Given the description of an element on the screen output the (x, y) to click on. 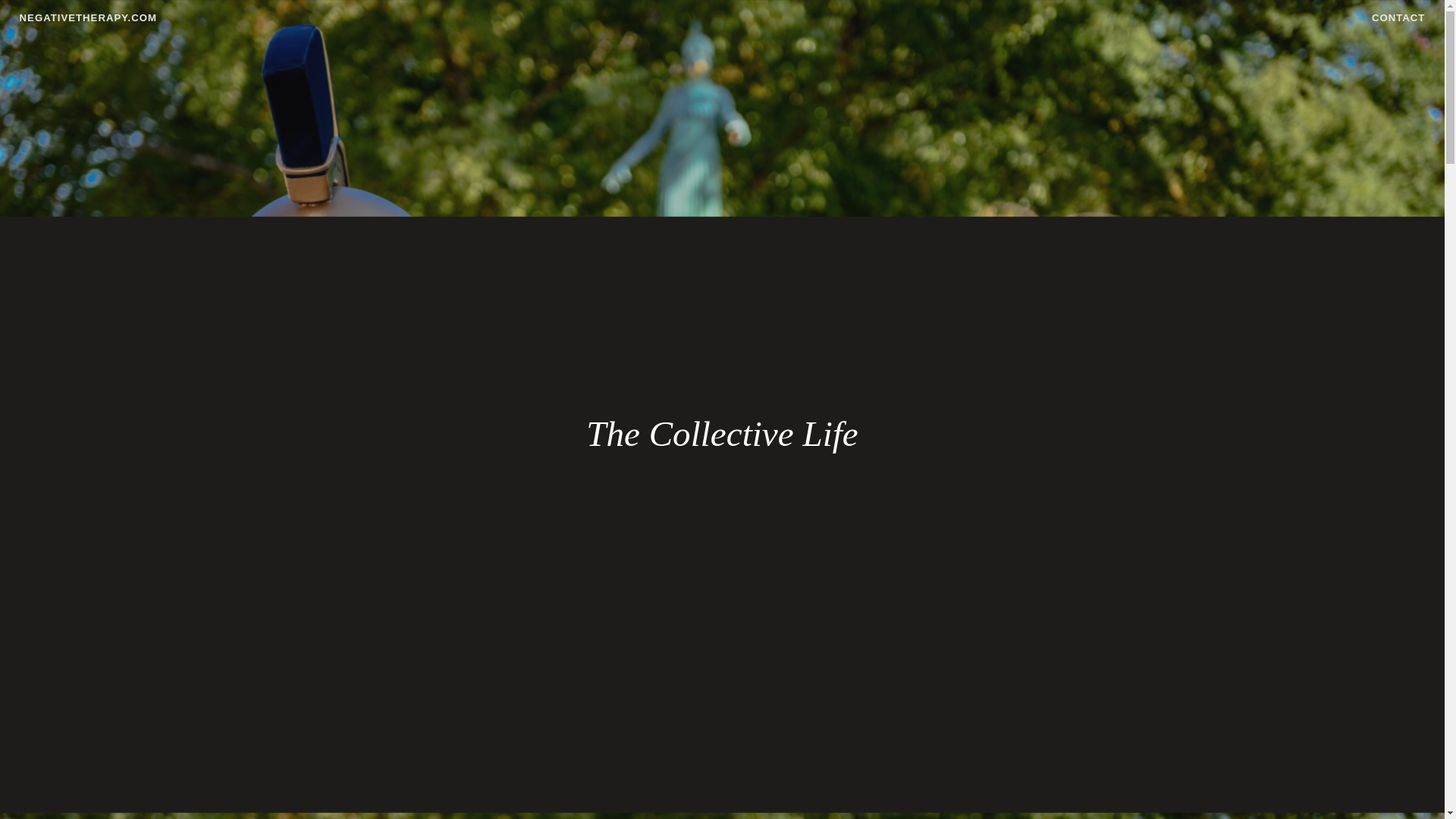
NEGATIVETHERAPY.COM (88, 17)
CONTACT (1398, 17)
